Given the description of an element on the screen output the (x, y) to click on. 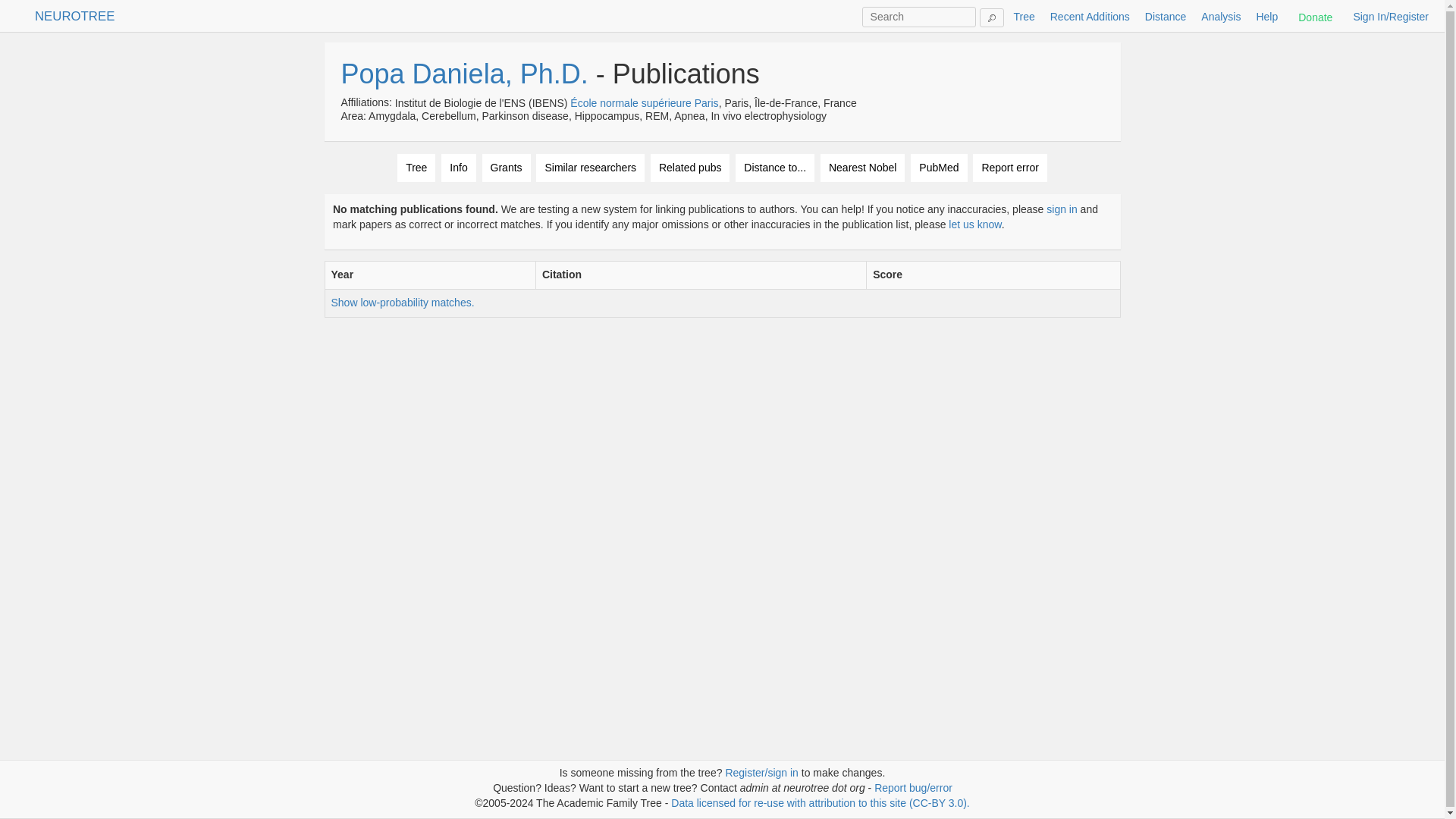
Similar researchers (590, 167)
Popa Daniela, Ph.D. (464, 73)
Tree (416, 167)
Nearest Nobel (863, 167)
NEUROTREE (74, 16)
Report error (1009, 167)
Analysis (1220, 16)
Show low-probability matches. (402, 302)
Info (458, 167)
Donate (1315, 17)
sign in (1061, 209)
Related pubs (690, 167)
Distance to... (774, 167)
Distance (1165, 16)
PubMed (938, 167)
